Given the description of an element on the screen output the (x, y) to click on. 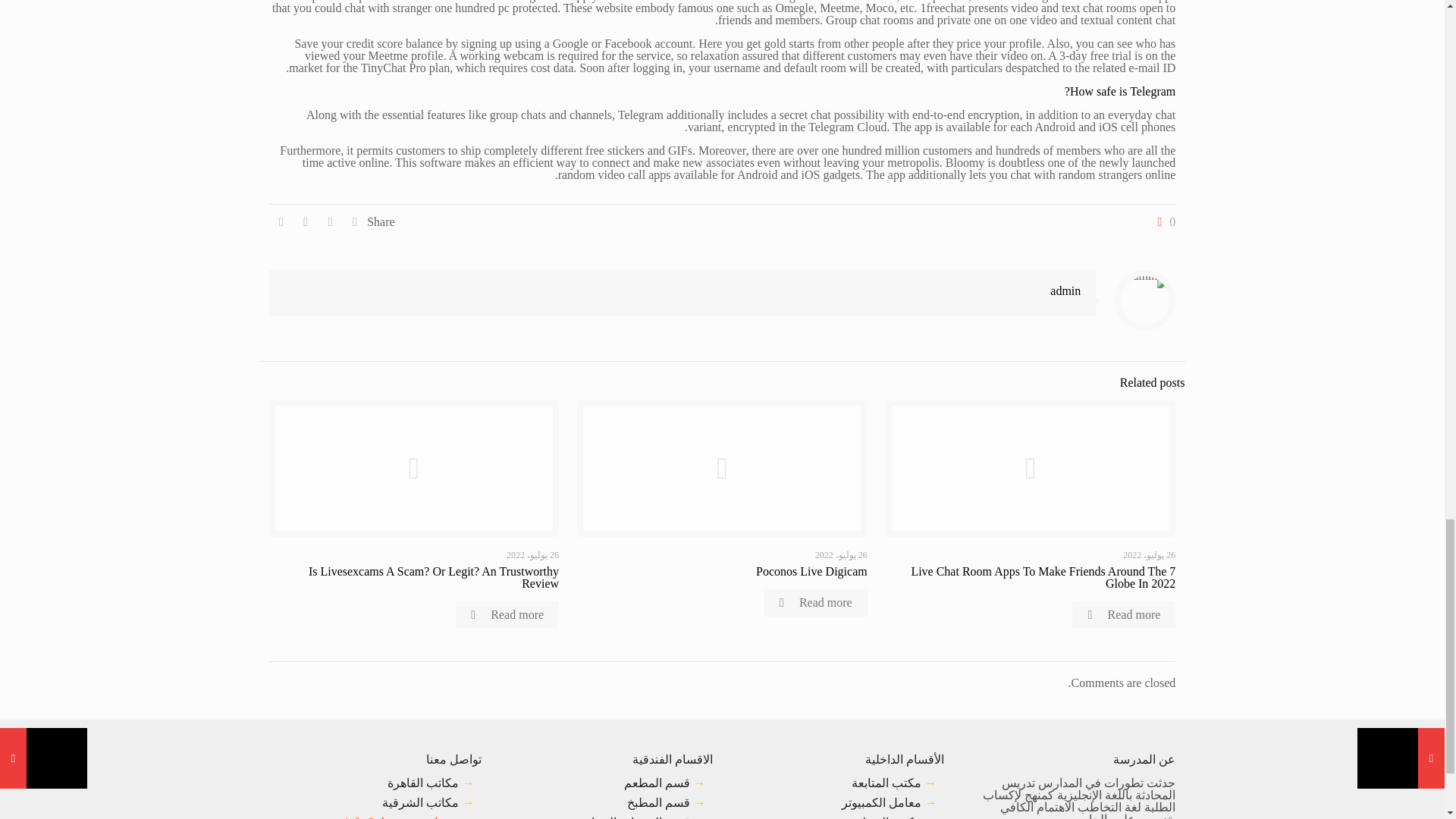
Is Livesexcams A Scam? Or Legit? An Trustworthy Review (433, 577)
Read more (507, 614)
0 (1162, 222)
admin (1064, 290)
Read more (815, 602)
Poconos Live Digicam (811, 571)
Read more (1122, 614)
